Given the description of an element on the screen output the (x, y) to click on. 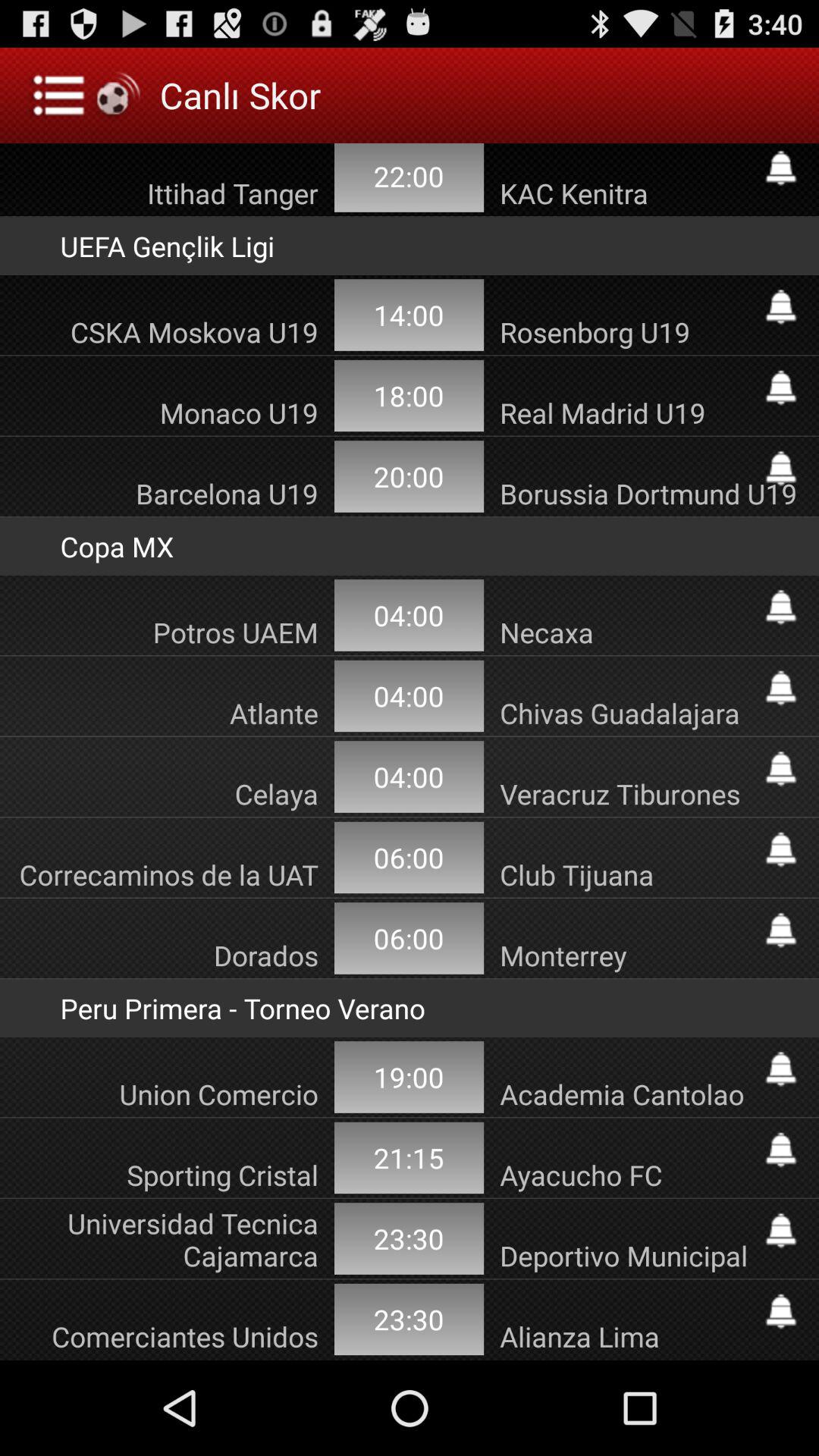
set alert (780, 1149)
